Given the description of an element on the screen output the (x, y) to click on. 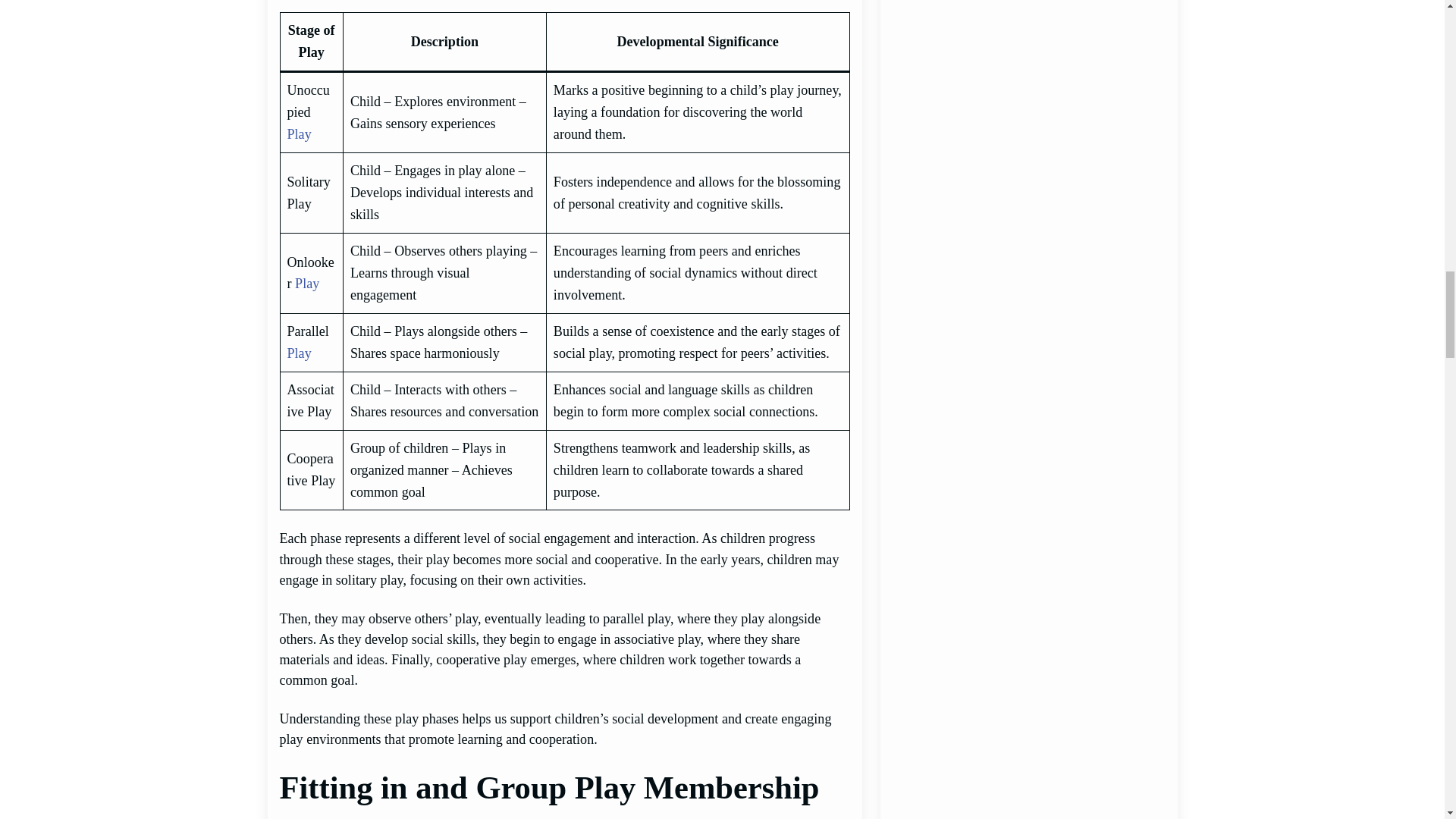
Play (298, 353)
Best Toys For 3 Month Old Babies 20 (1027, 41)
Play (298, 133)
Play (306, 283)
